Given the description of an element on the screen output the (x, y) to click on. 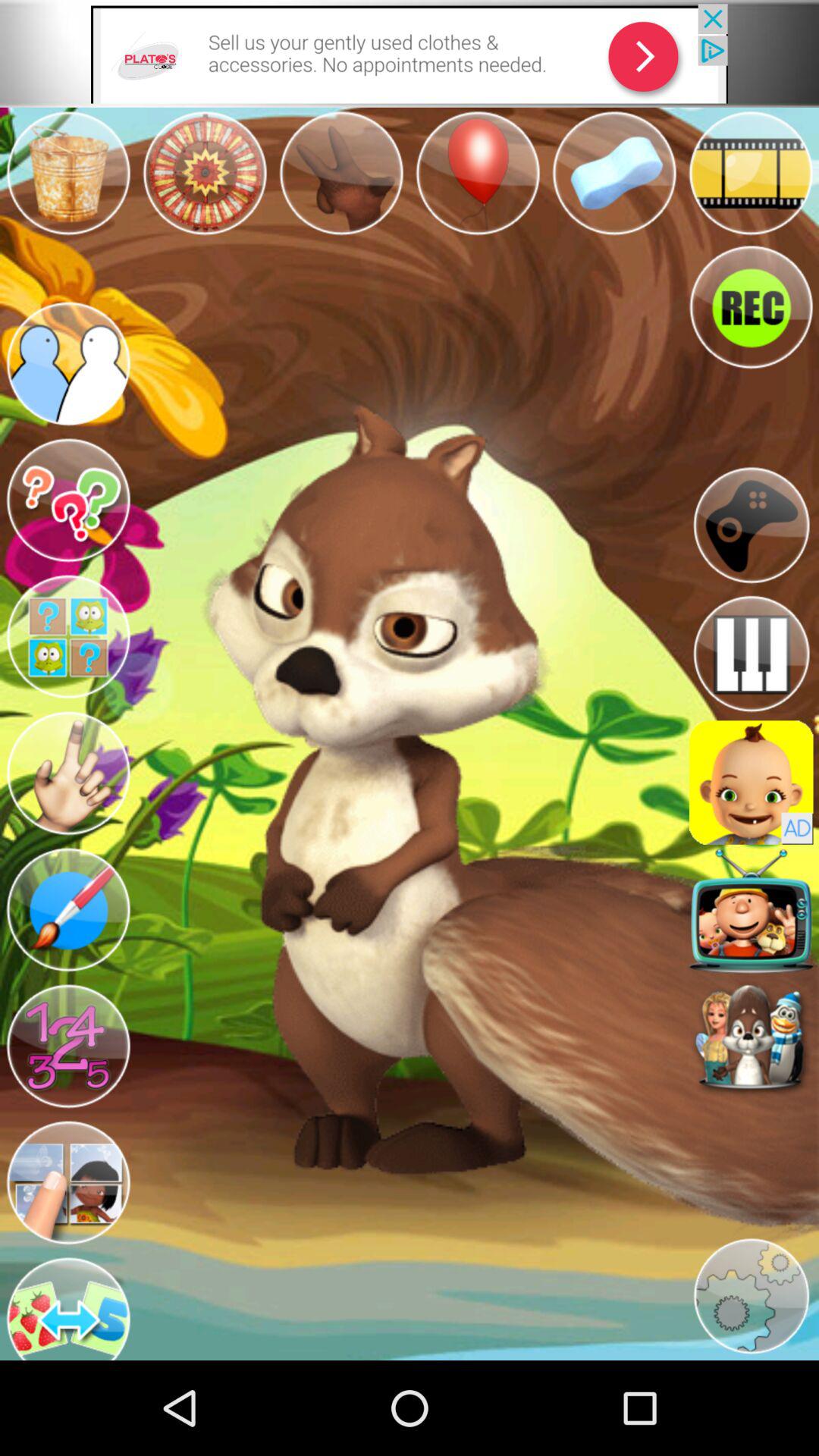
an icon resembling a keyboard that opens an app (751, 653)
